Given the description of an element on the screen output the (x, y) to click on. 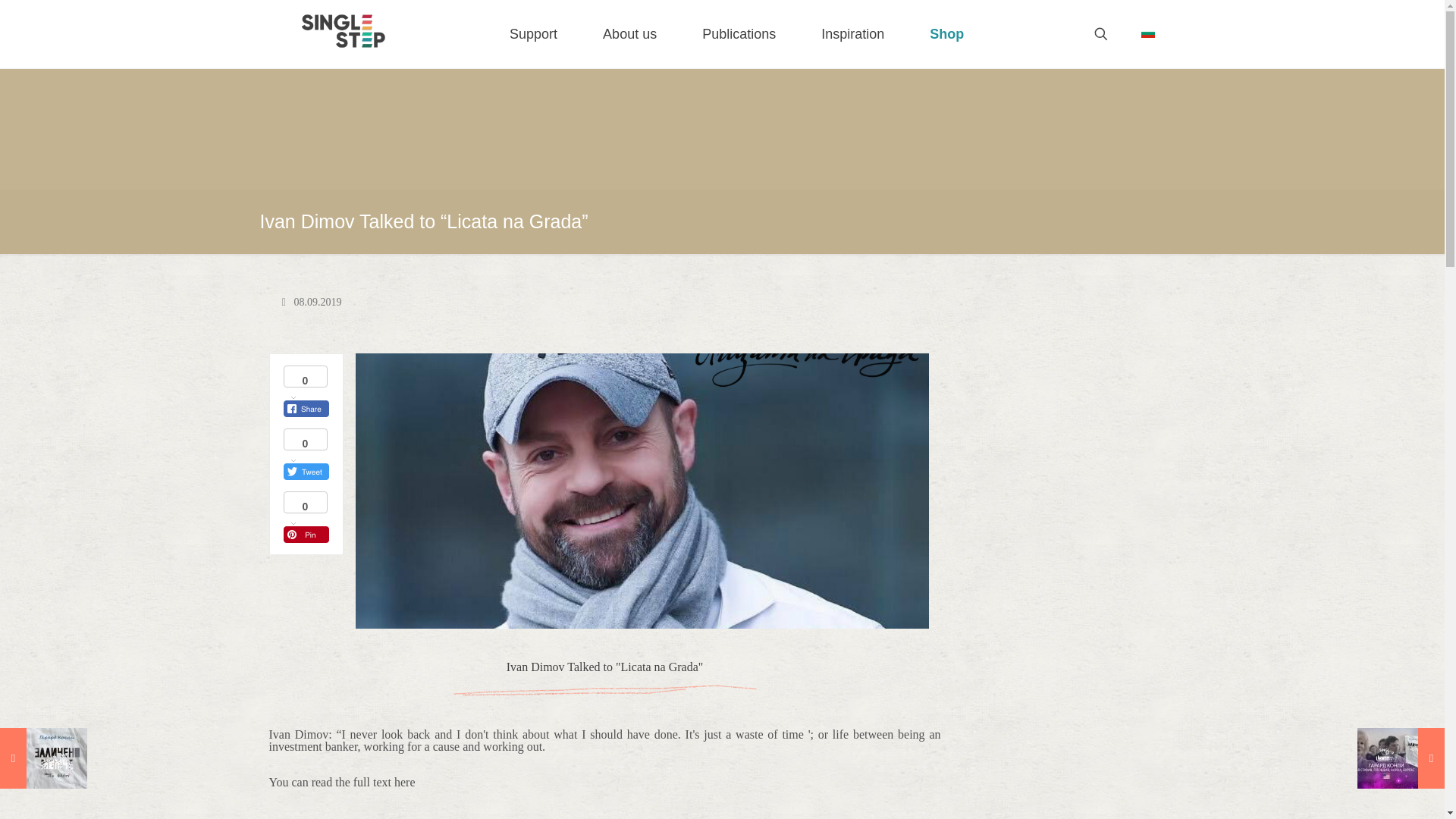
Shop (947, 33)
SingleStep (342, 30)
Opens a widget where you can chat to one of our agents (1386, 792)
Inspiration (852, 33)
Publications (738, 33)
Support (532, 33)
About us (629, 33)
